Given the description of an element on the screen output the (x, y) to click on. 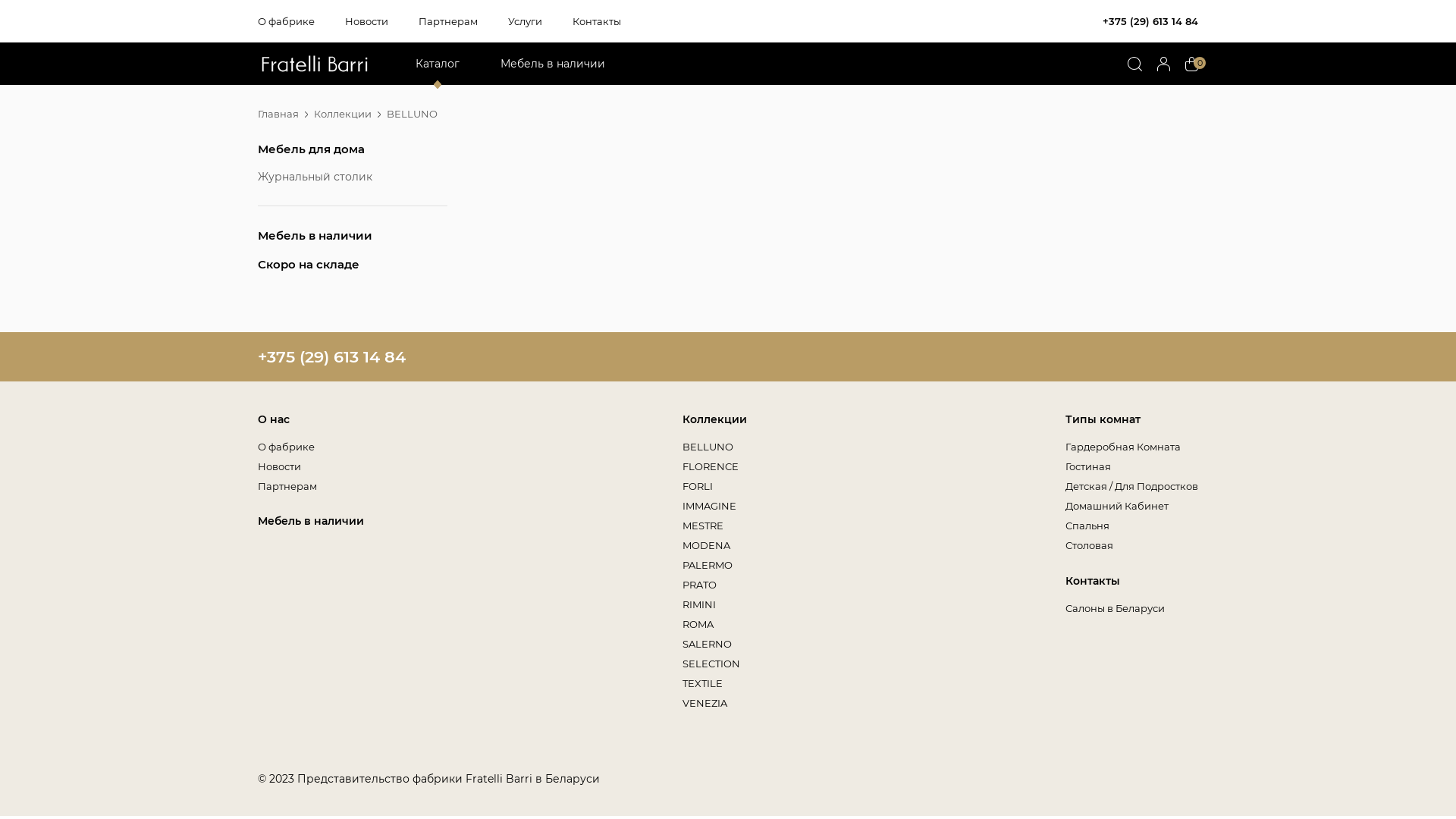
ROMA Element type: text (893, 90)
TEXTILE Element type: text (898, 90)
SALERNO Element type: text (706, 643)
RIMINI Element type: text (698, 604)
+375 (29) 613 14 84 Element type: text (331, 356)
PRATO Element type: text (895, 90)
PALERMO Element type: text (707, 564)
SELECTION Element type: text (906, 90)
PRATO Element type: text (699, 584)
RIMINI Element type: text (894, 90)
VENEZIA Element type: text (900, 90)
0 Element type: text (1191, 63)
IMMAGINE Element type: text (709, 505)
MESTRE Element type: text (898, 90)
MODENA Element type: text (706, 545)
MODENA Element type: text (901, 90)
TEXTILE Element type: text (702, 683)
FORLI Element type: text (893, 90)
FORLI Element type: text (697, 486)
+375 (29) 613 14 84 Element type: text (1150, 21)
BELLUNO Element type: text (707, 446)
FLORENCE Element type: text (710, 466)
ROMA Element type: text (697, 624)
IMMAGINE Element type: text (904, 90)
FLORENCE Element type: text (906, 90)
BELLUNO Element type: text (903, 90)
SALERNO Element type: text (902, 90)
MESTRE Element type: text (702, 525)
PALERMO Element type: text (903, 90)
VENEZIA Element type: text (704, 702)
SELECTION Element type: text (711, 663)
